Given the description of an element on the screen output the (x, y) to click on. 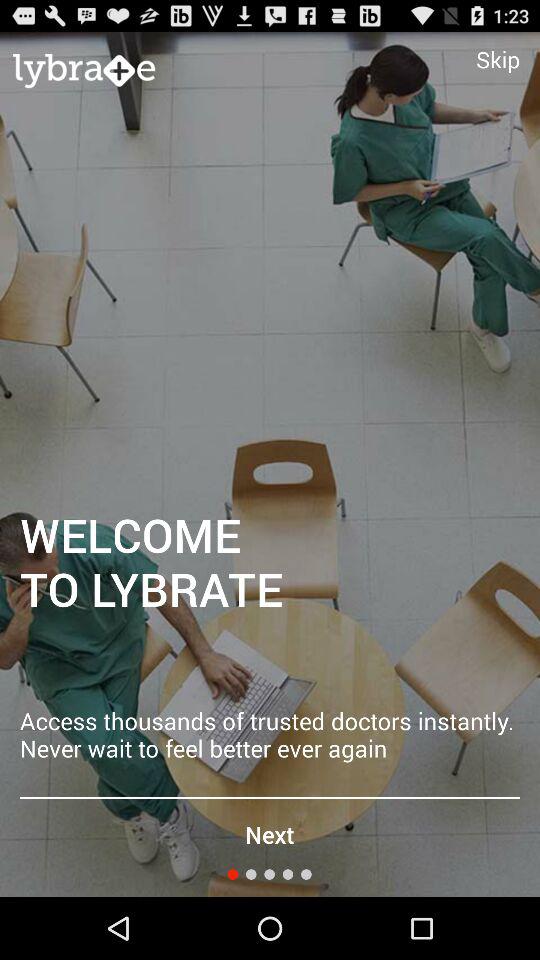
scroll to next icon (269, 834)
